Given the description of an element on the screen output the (x, y) to click on. 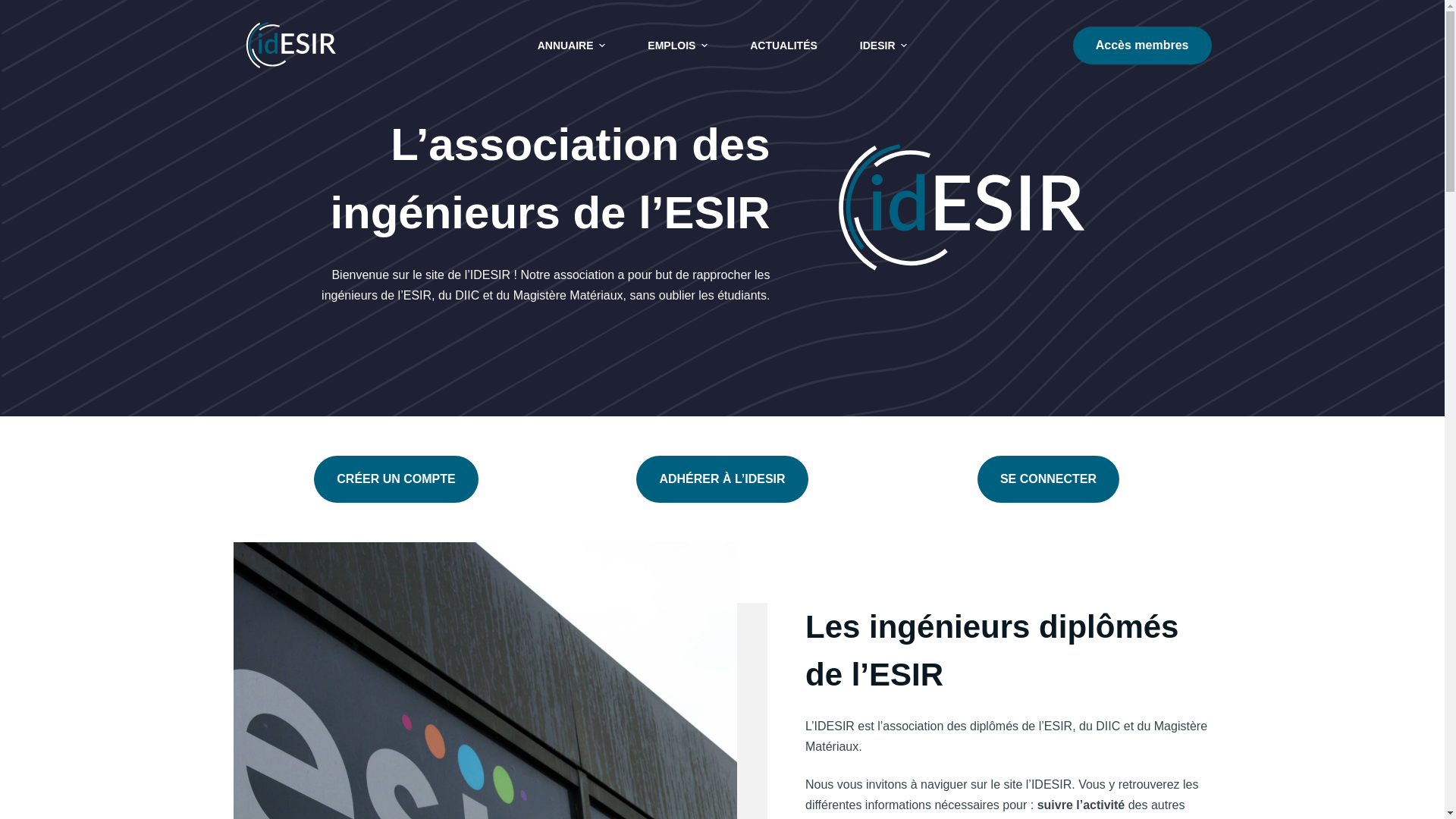
Passer au contenu Element type: text (15, 7)
EMPLOIS Element type: text (677, 45)
IDESIR Element type: text (883, 45)
SE CONNECTER Element type: text (1048, 478)
ANNUAIRE Element type: text (571, 45)
